Given the description of an element on the screen output the (x, y) to click on. 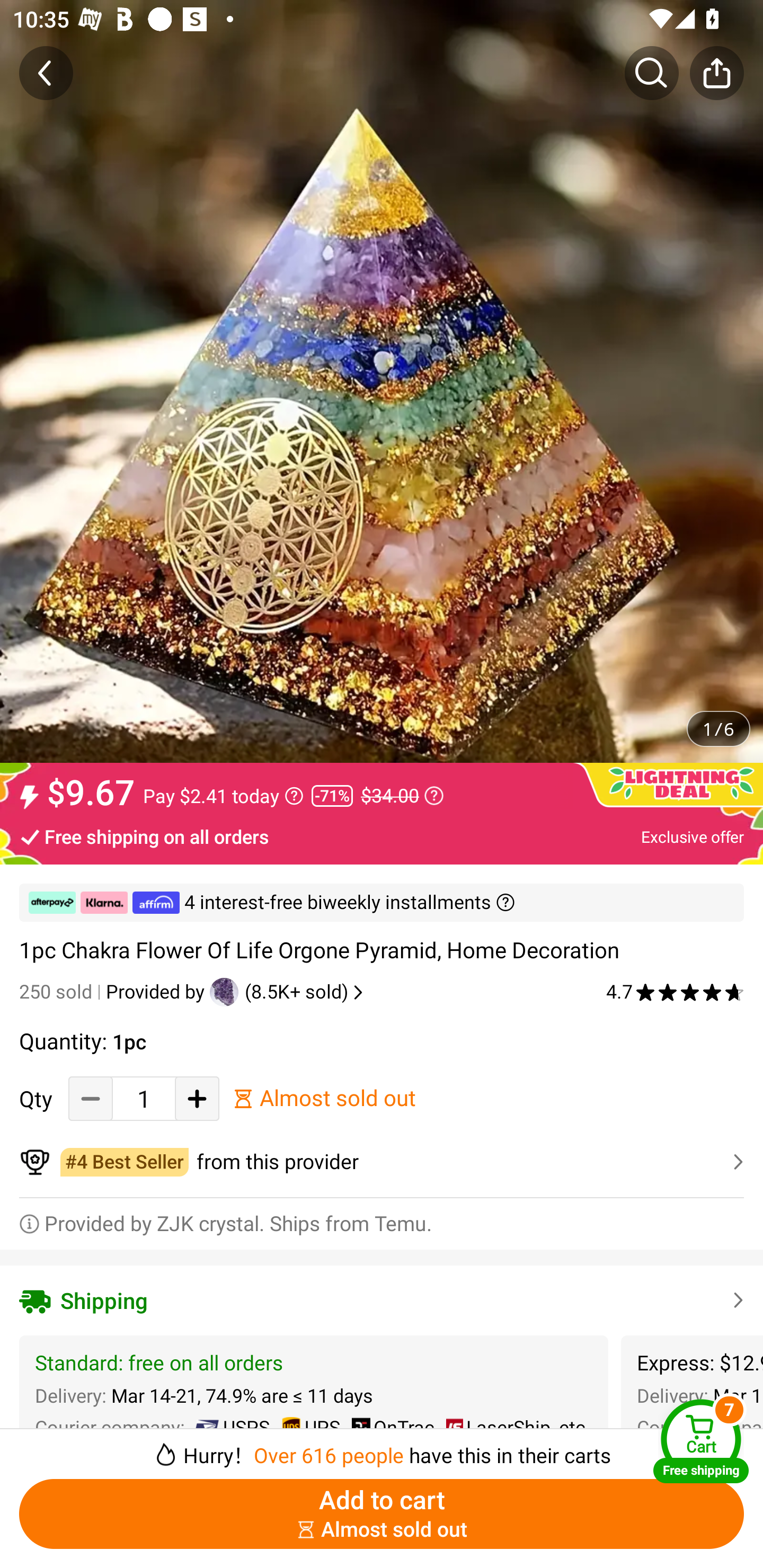
Back (46, 72)
Share (716, 72)
Pay $2.41 today   (223, 795)
Free shipping on all orders Exclusive offer (381, 836)
￼ ￼ ￼ 4 interest-free biweekly installments ￼ (381, 902)
250 sold Provided by  (114, 992)
4.7 (674, 992)
Decrease Quantity Button (90, 1098)
1 (143, 1098)
Add Quantity button (196, 1098)
￼￼from this provider (381, 1162)
Shipping (381, 1300)
Cart Free shipping Cart (701, 1440)
￼￼Hurry！Over 616 people have this in their carts (381, 1448)
Add to cart ￼￼Almost sold out (381, 1513)
